Given the description of an element on the screen output the (x, y) to click on. 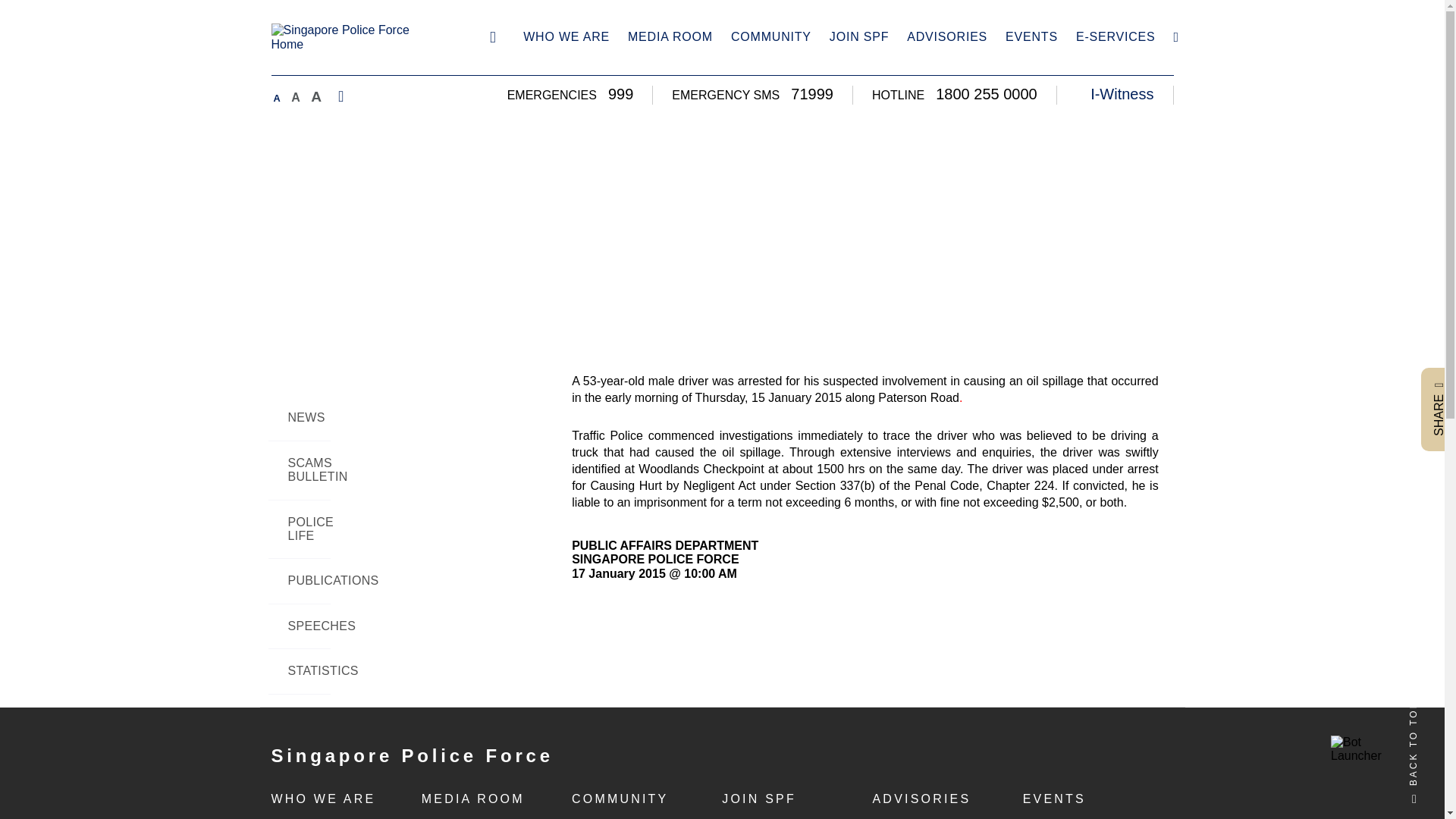
Go back to SPF homepage (492, 35)
Click here to go back to SPF homepage (356, 37)
COMMUNITY (770, 38)
MEDIA ROOM (670, 38)
Who We Are (566, 38)
WHO WE ARE (566, 38)
